Given the description of an element on the screen output the (x, y) to click on. 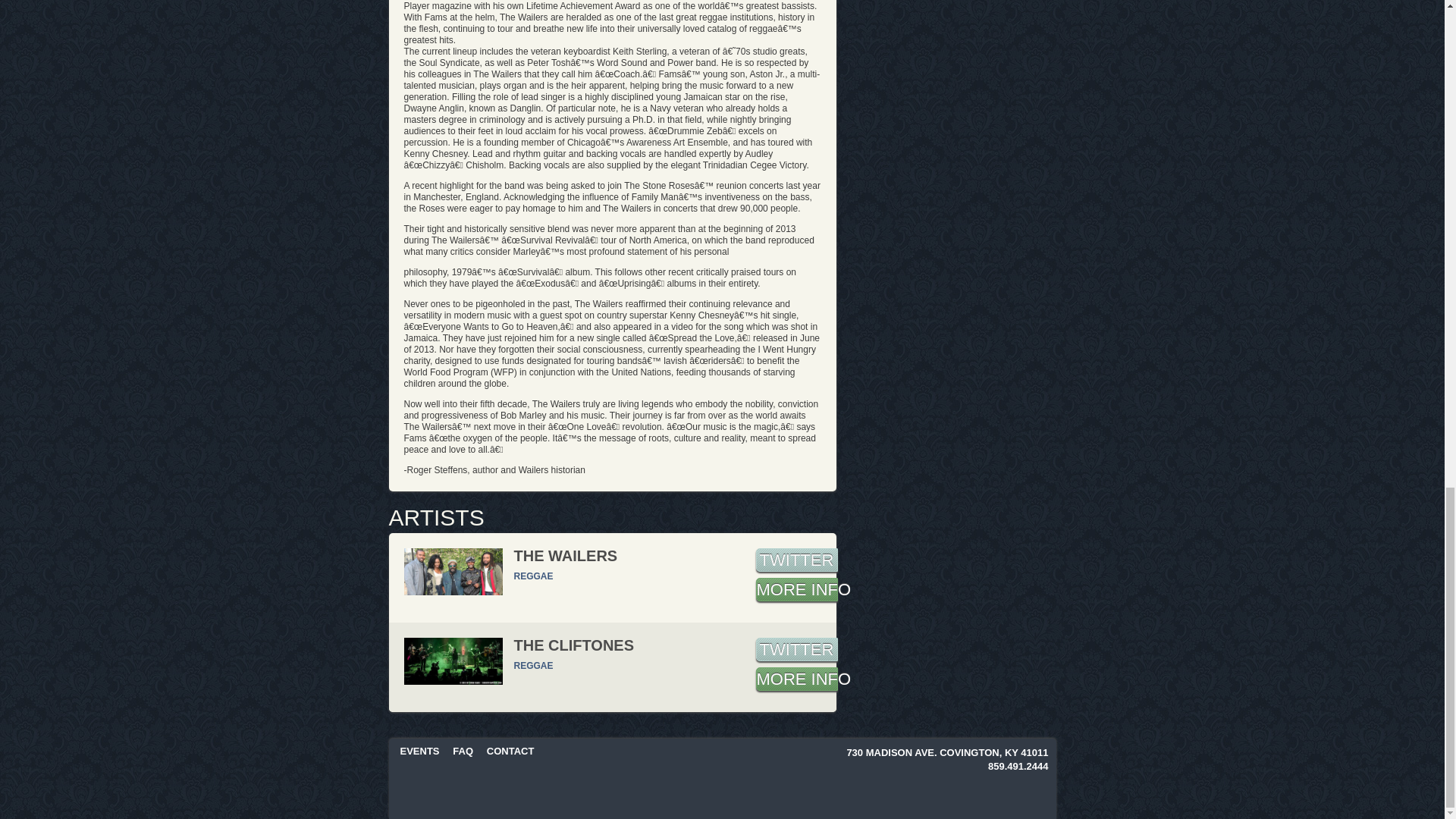
MORE INFO (796, 589)
EVENTS (419, 750)
TWITTER (796, 559)
859.491.2444 (1018, 766)
POWERED BY CINCYMUSIC (882, 795)
730 MADISON AVE. COVINGTON, KY 41011 (946, 752)
TWITTER (796, 649)
MORE INFO (796, 679)
CONTACT (510, 750)
BUILT IN CINCINNATI BY PATCHBOARD (995, 795)
FAQ (462, 750)
